Given the description of an element on the screen output the (x, y) to click on. 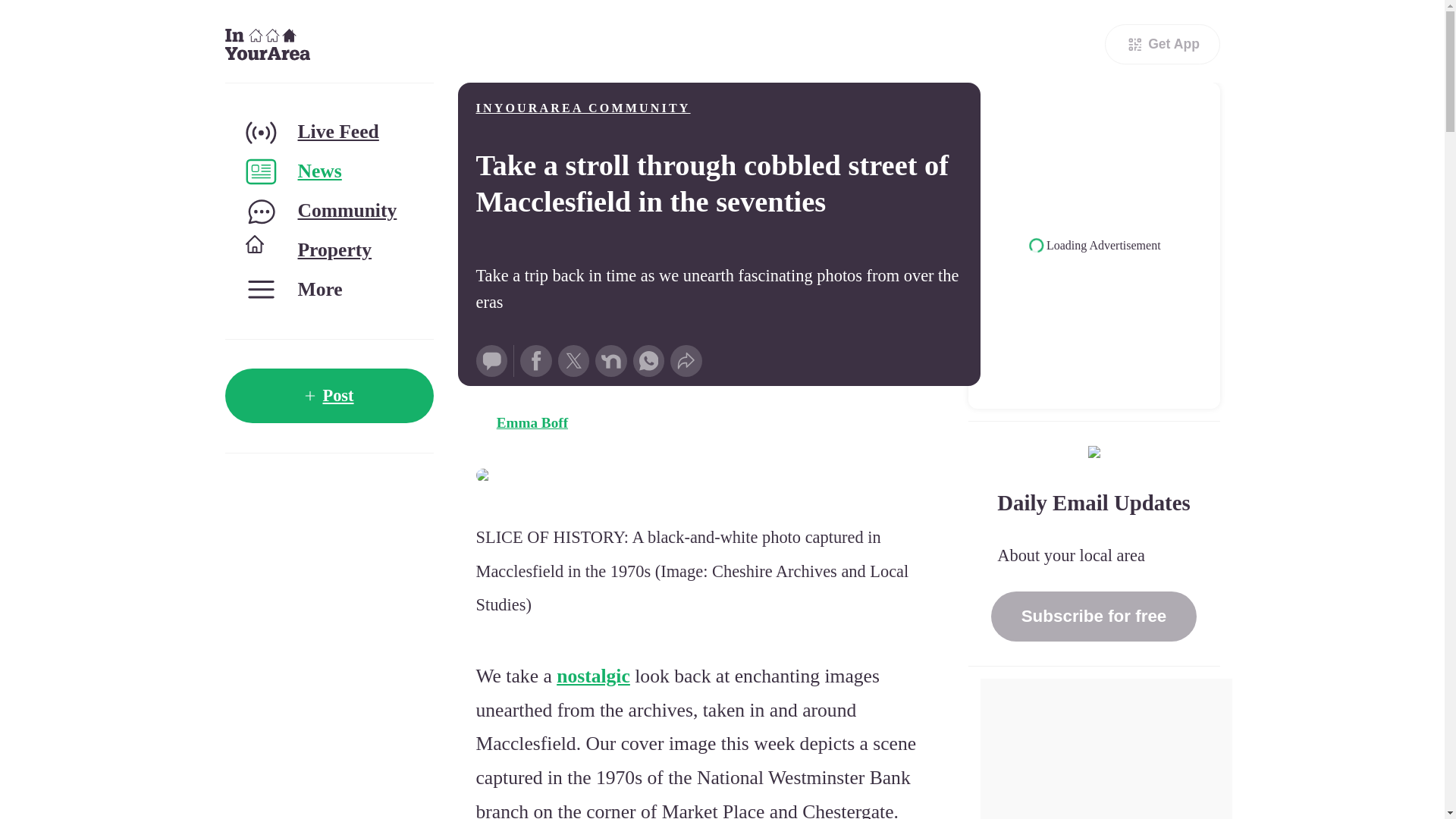
Share to X (573, 360)
Live Feed (328, 132)
Community (328, 210)
Get App (1162, 44)
Share to Nextdoor (611, 360)
Share to Whatsapp (649, 360)
Get App (1162, 44)
Post (328, 395)
Property (328, 250)
Social Button (492, 360)
